Given the description of an element on the screen output the (x, y) to click on. 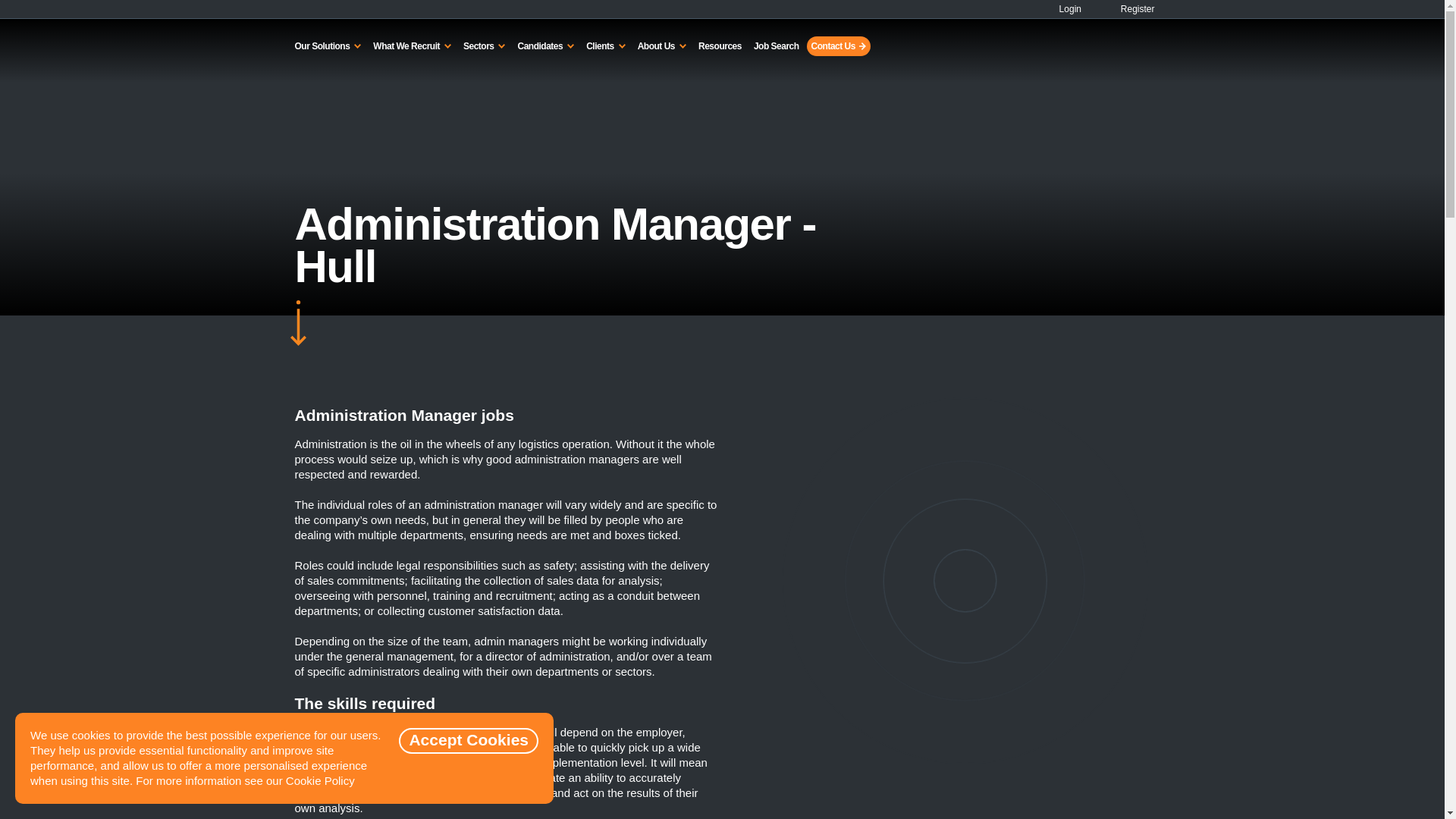
Login (1063, 9)
Sectors (484, 46)
Register (1128, 9)
What We Recruit (411, 46)
Our Solutions (327, 46)
